Given the description of an element on the screen output the (x, y) to click on. 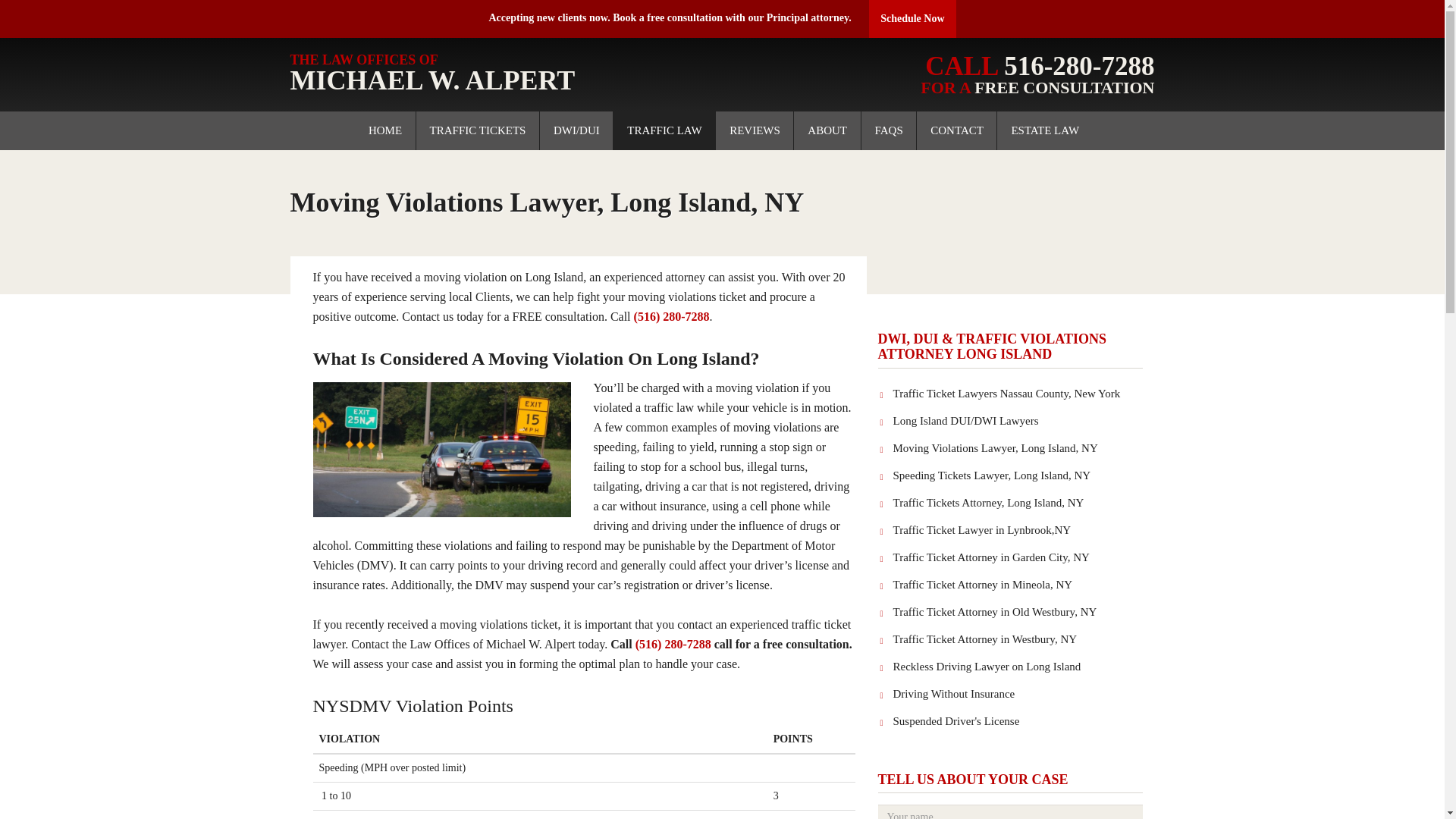
Schedule Now (912, 18)
ABOUT (826, 130)
ESTATE LAW (499, 73)
TRAFFIC LAW (1045, 130)
FAQS (663, 130)
REVIEWS (889, 130)
HOME (754, 130)
CONTACT (384, 130)
TRAFFIC TICKETS (957, 130)
